Given the description of an element on the screen output the (x, y) to click on. 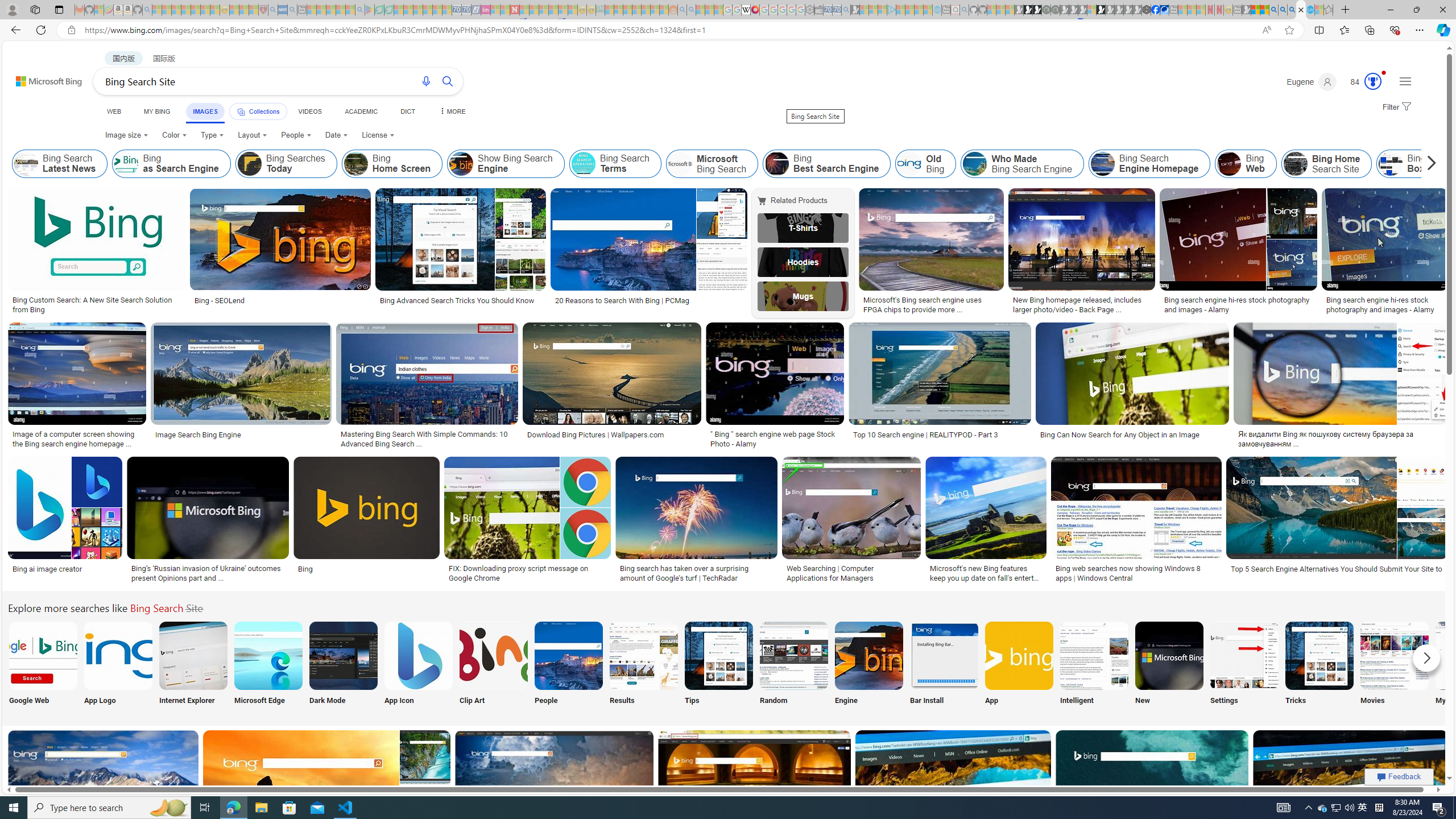
Bing the Search Engine Engine (868, 665)
Bing Movies Search (1393, 654)
Bing AI - Search (1272, 9)
Layout (253, 135)
Bing Search Box History (1390, 163)
T-Shirts (802, 227)
utah sues federal government - Search - Sleeping (291, 9)
